Given the description of an element on the screen output the (x, y) to click on. 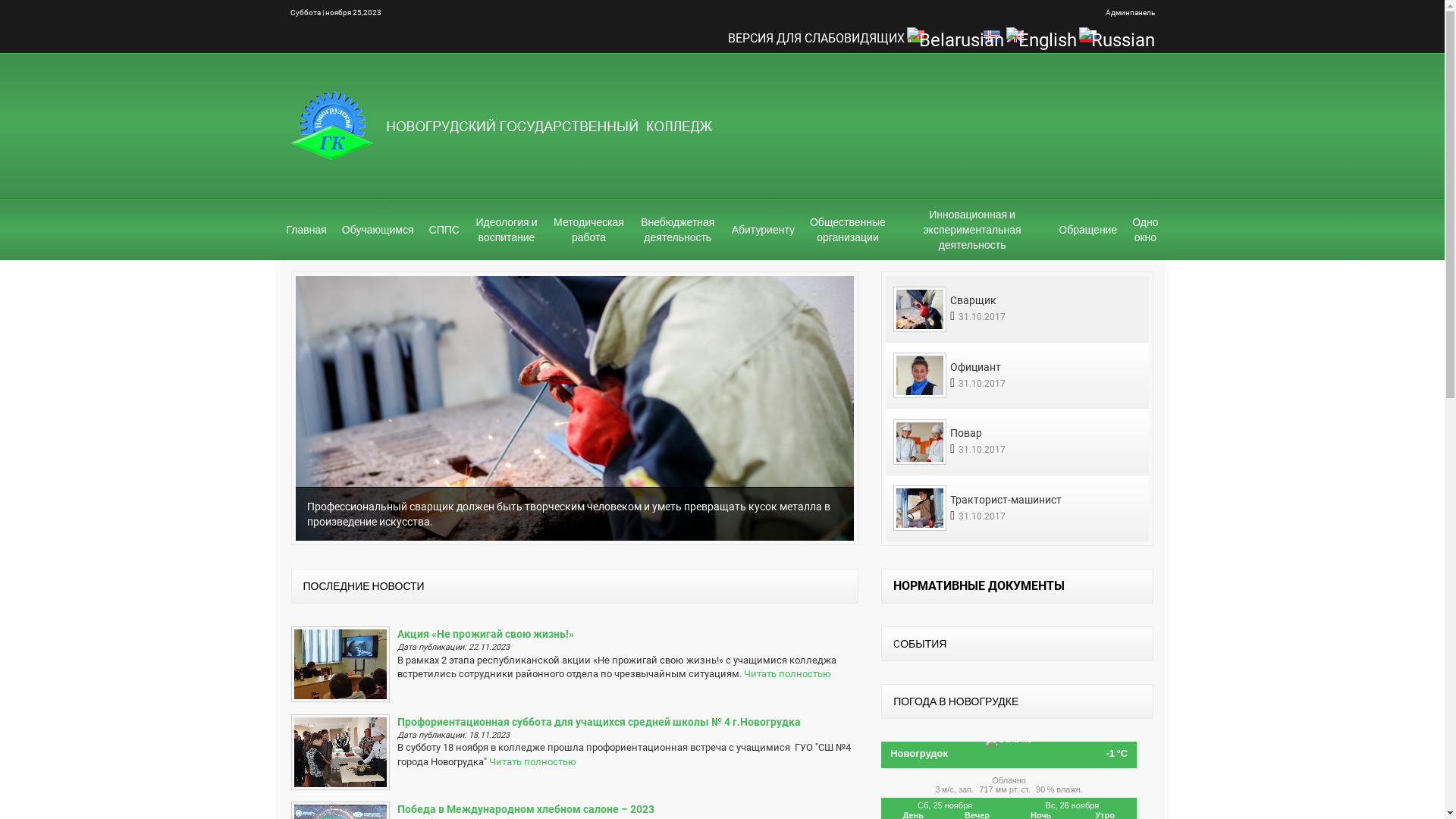
Belarusian Element type: hover (955, 38)
English Element type: hover (1040, 38)
Russian Element type: hover (1116, 38)
